Given the description of an element on the screen output the (x, y) to click on. 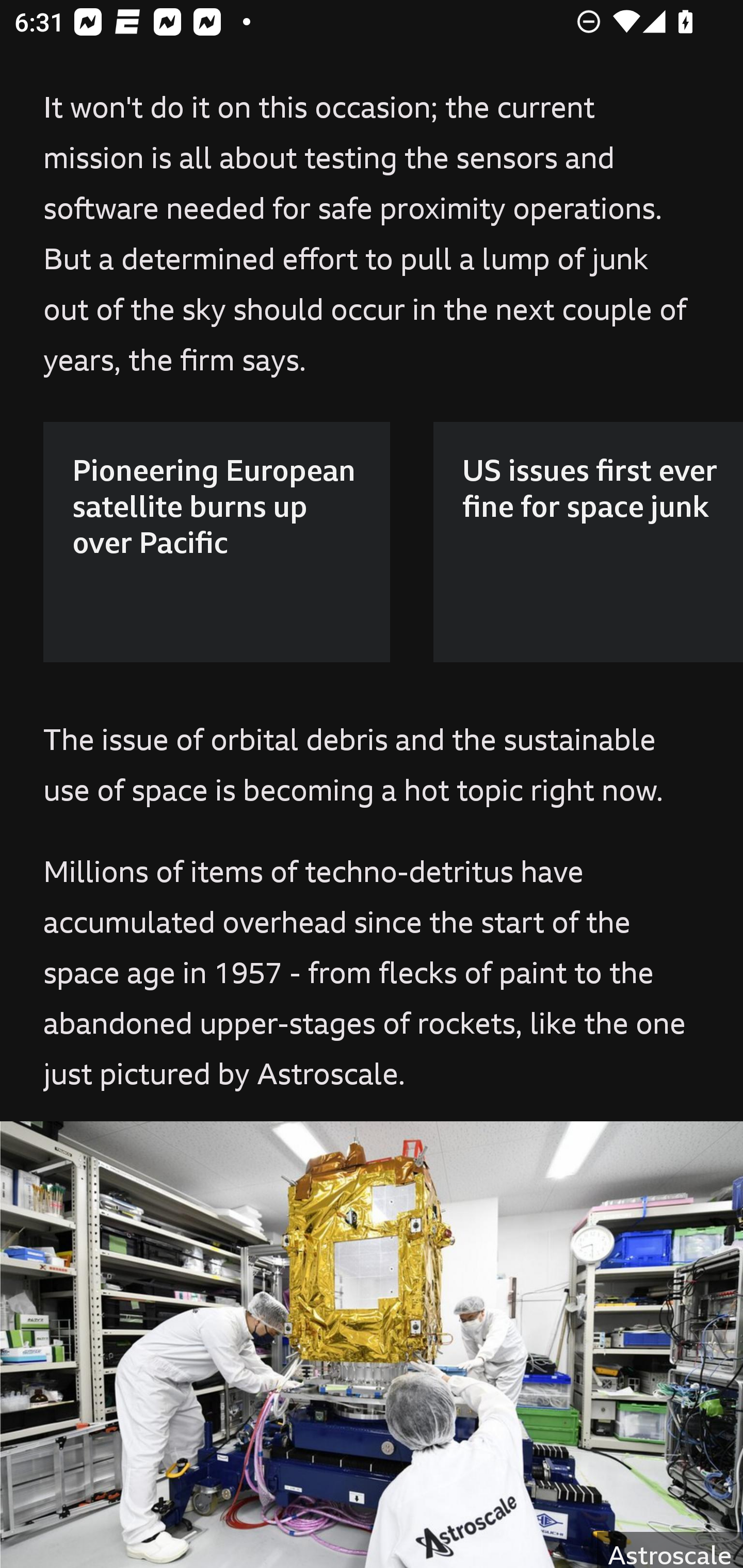
US issues first ever fine for space junk (588, 541)
Adras-J (371, 1344)
